Given the description of an element on the screen output the (x, y) to click on. 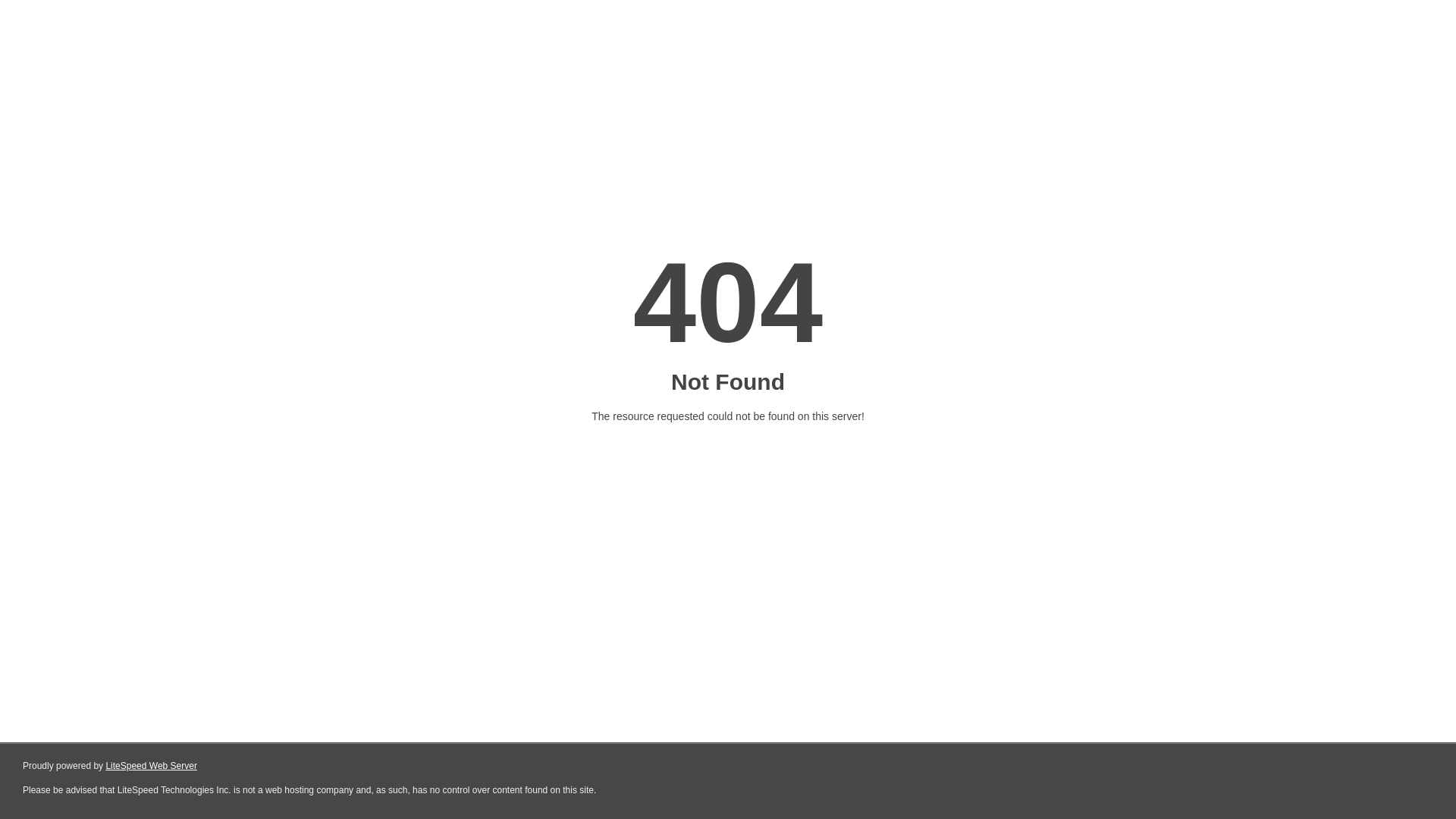
LiteSpeed Web Server Element type: text (151, 765)
